Given the description of an element on the screen output the (x, y) to click on. 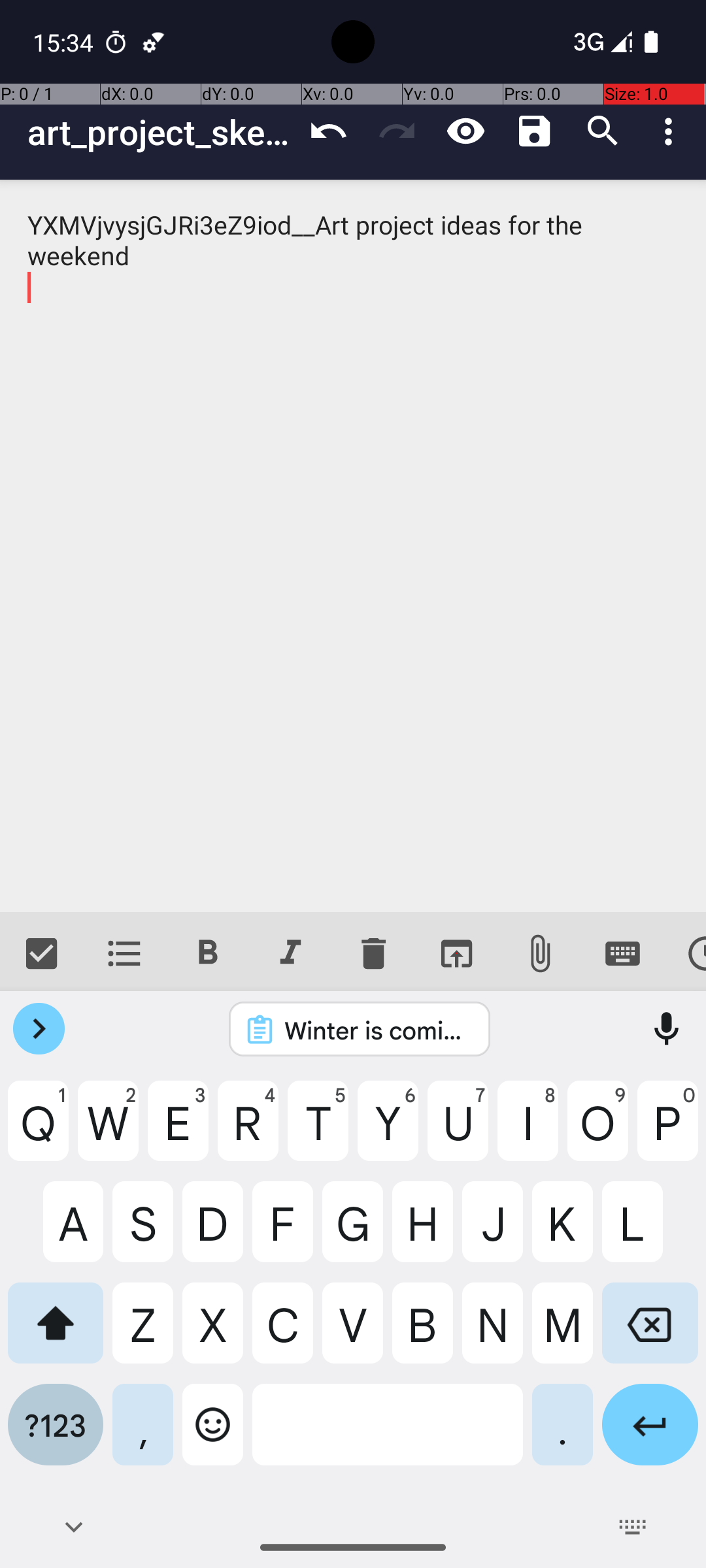
art_project_sketches_backup Element type: android.widget.TextView (160, 131)
YXMVjvysjGJRi3eZ9iod__Art project ideas for the weekend
 Element type: android.widget.EditText (353, 545)
Winter is coming. Element type: android.widget.TextView (376, 1029)
